Given the description of an element on the screen output the (x, y) to click on. 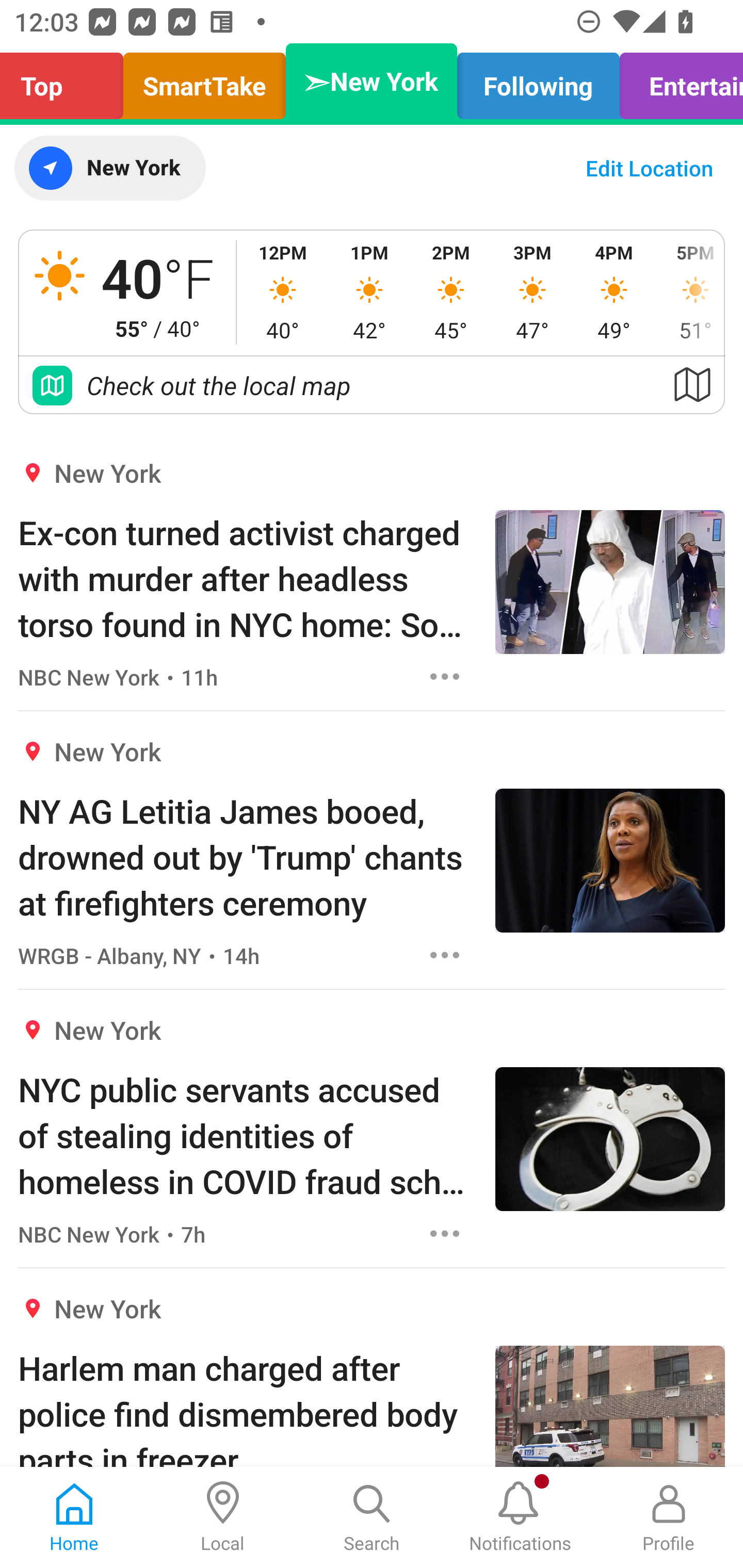
Top (67, 81)
SmartTake (204, 81)
➣New York (371, 81)
Following (538, 81)
New York (109, 168)
Edit Location (648, 168)
12PM 40° (282, 291)
1PM 42° (369, 291)
2PM 45° (450, 291)
3PM 47° (532, 291)
4PM 49° (613, 291)
5PM 51° (689, 291)
Check out the local map (371, 384)
Options (444, 676)
Options (444, 954)
Options (444, 1233)
Local (222, 1517)
Search (371, 1517)
Notifications, New notification Notifications (519, 1517)
Profile (668, 1517)
